Given the description of an element on the screen output the (x, y) to click on. 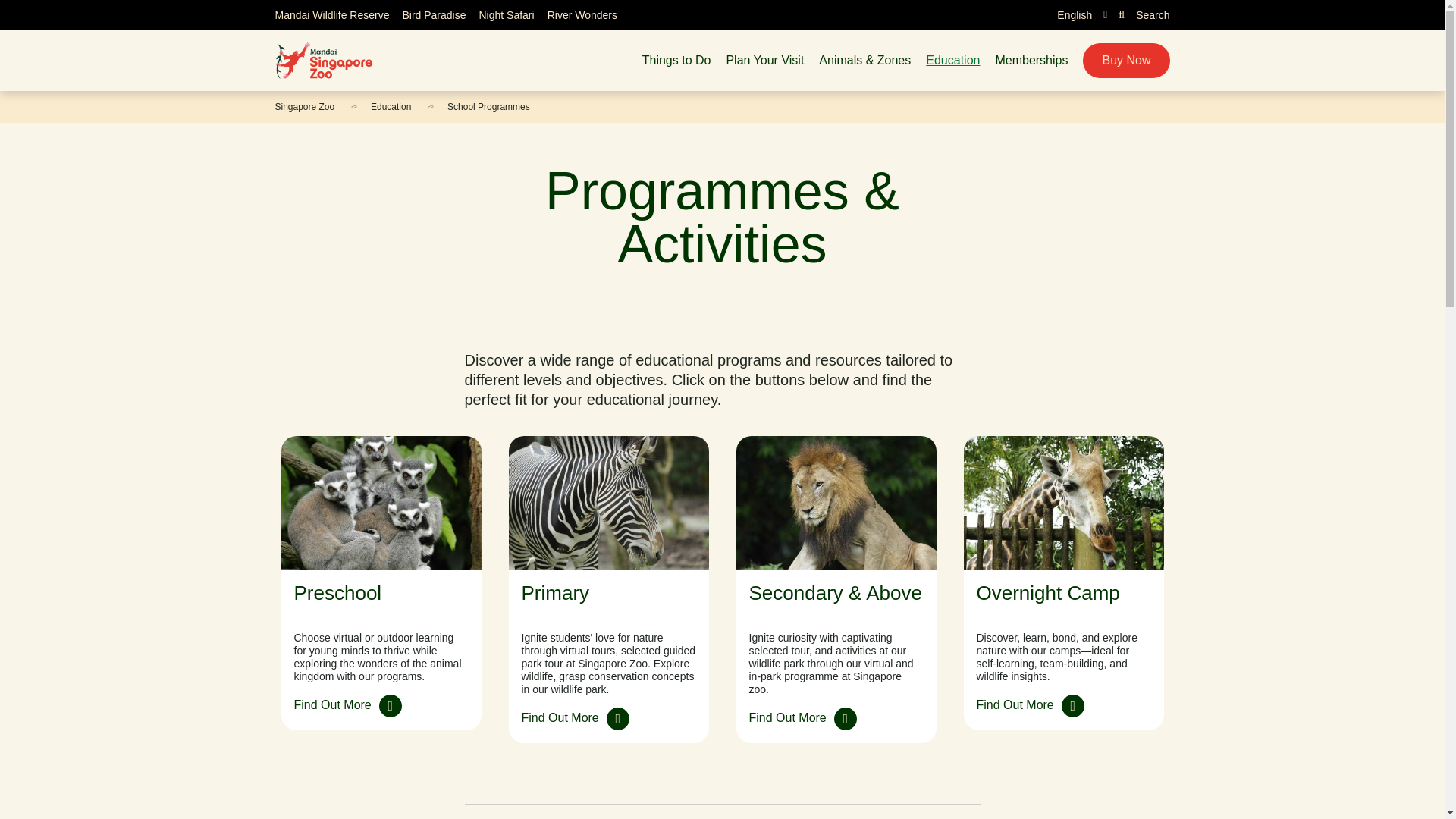
Night Safari (506, 15)
Bird Paradise (433, 15)
River Wonders (582, 15)
Mandai Wildlife Reserve (331, 15)
River Wonders (582, 15)
Bird Paradise (433, 15)
Mandai Wildlife Reserve (331, 15)
Night Safari (506, 15)
Things to Do (676, 60)
